Given the description of an element on the screen output the (x, y) to click on. 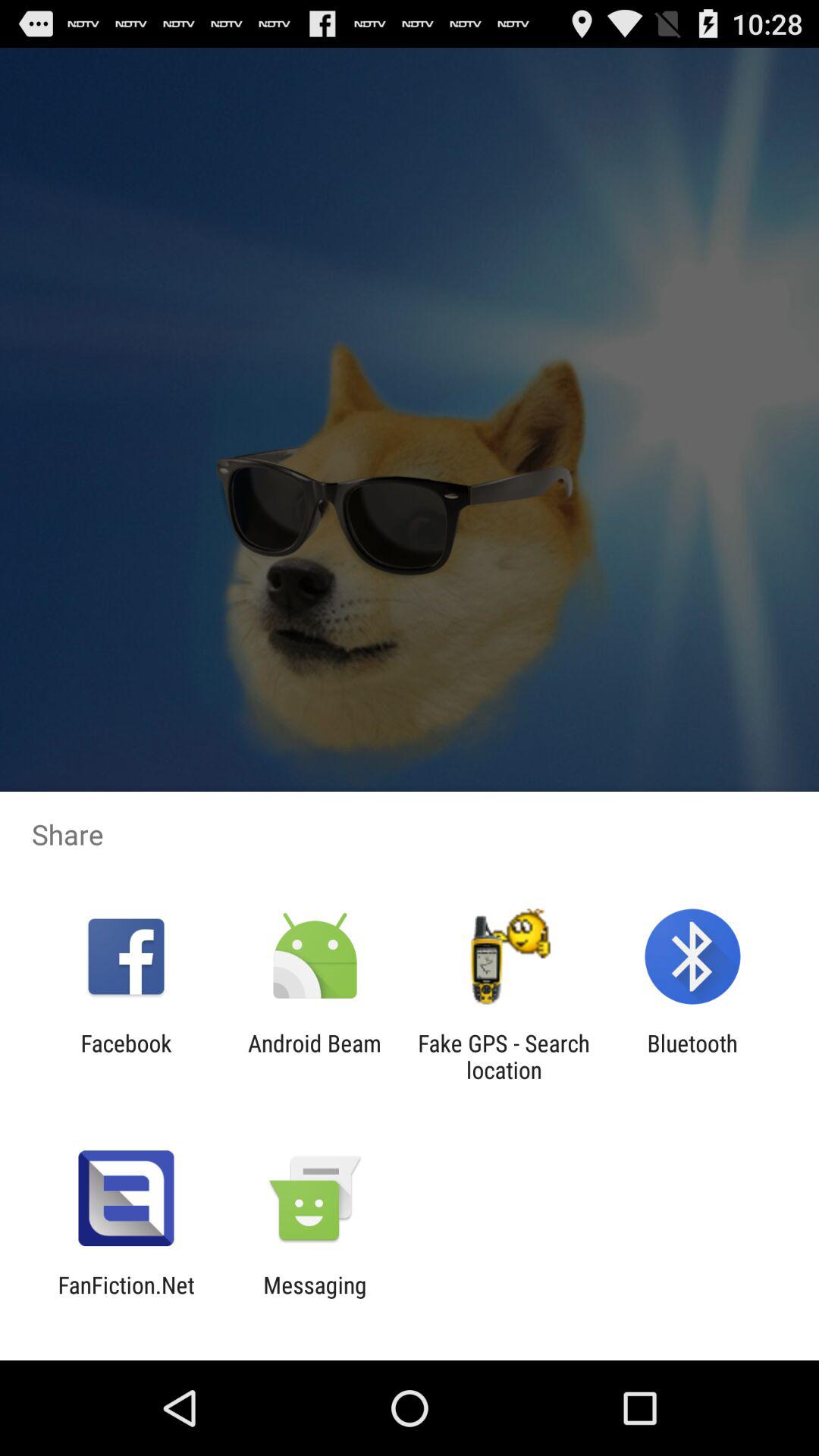
turn off the item to the left of fake gps search item (314, 1056)
